Given the description of an element on the screen output the (x, y) to click on. 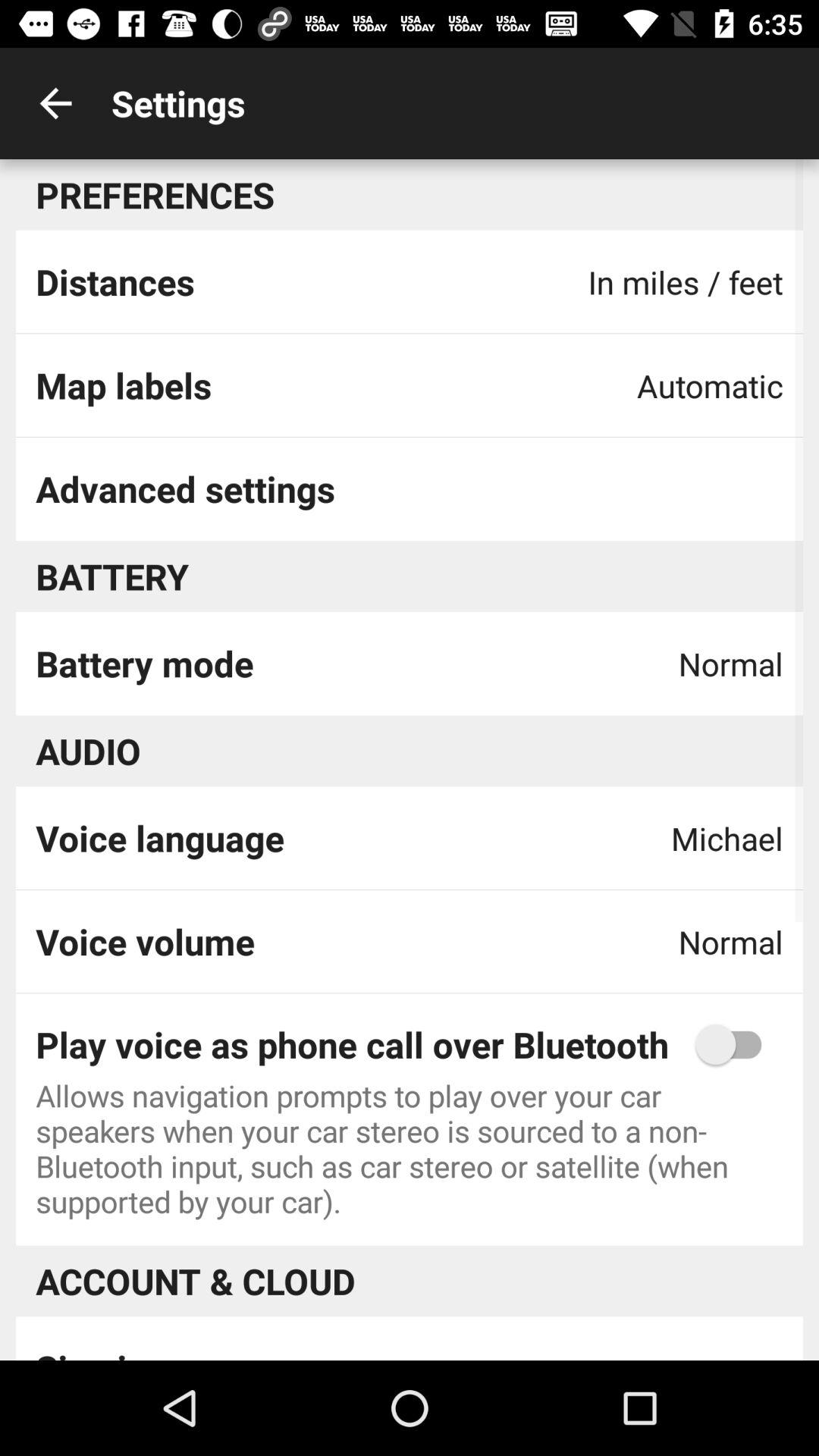
press the item next to the settings item (55, 103)
